Given the description of an element on the screen output the (x, y) to click on. 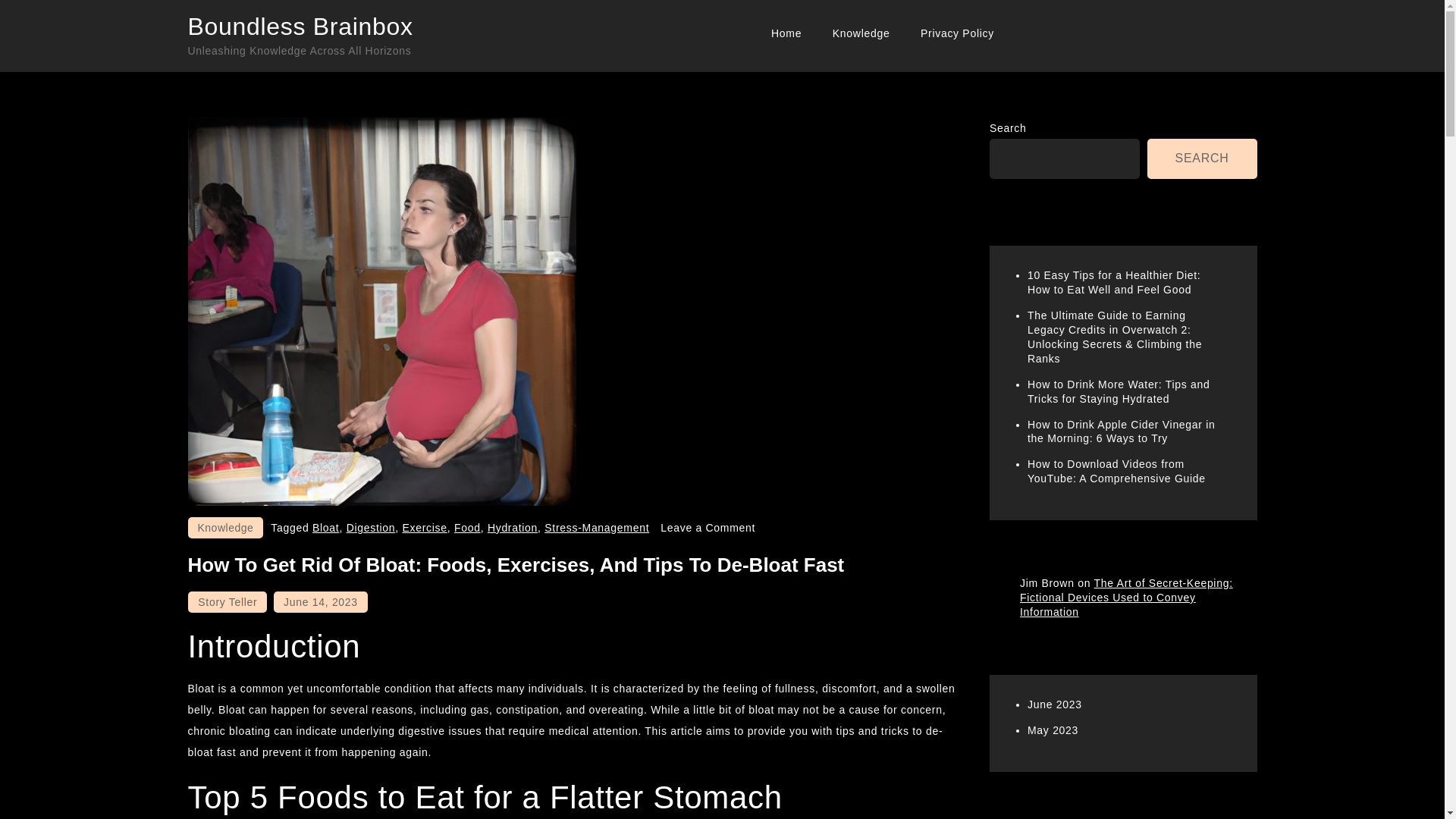
Privacy Policy (957, 33)
Stress-Management (596, 527)
Hydration (512, 527)
How to Download Videos from YouTube: A Comprehensive Guide (1116, 470)
Exercise (423, 527)
Home (786, 33)
May 2023 (1052, 729)
Food (467, 527)
Knowledge (861, 33)
Boundless Brainbox (300, 26)
SEARCH (1202, 158)
Digestion (371, 527)
